Given the description of an element on the screen output the (x, y) to click on. 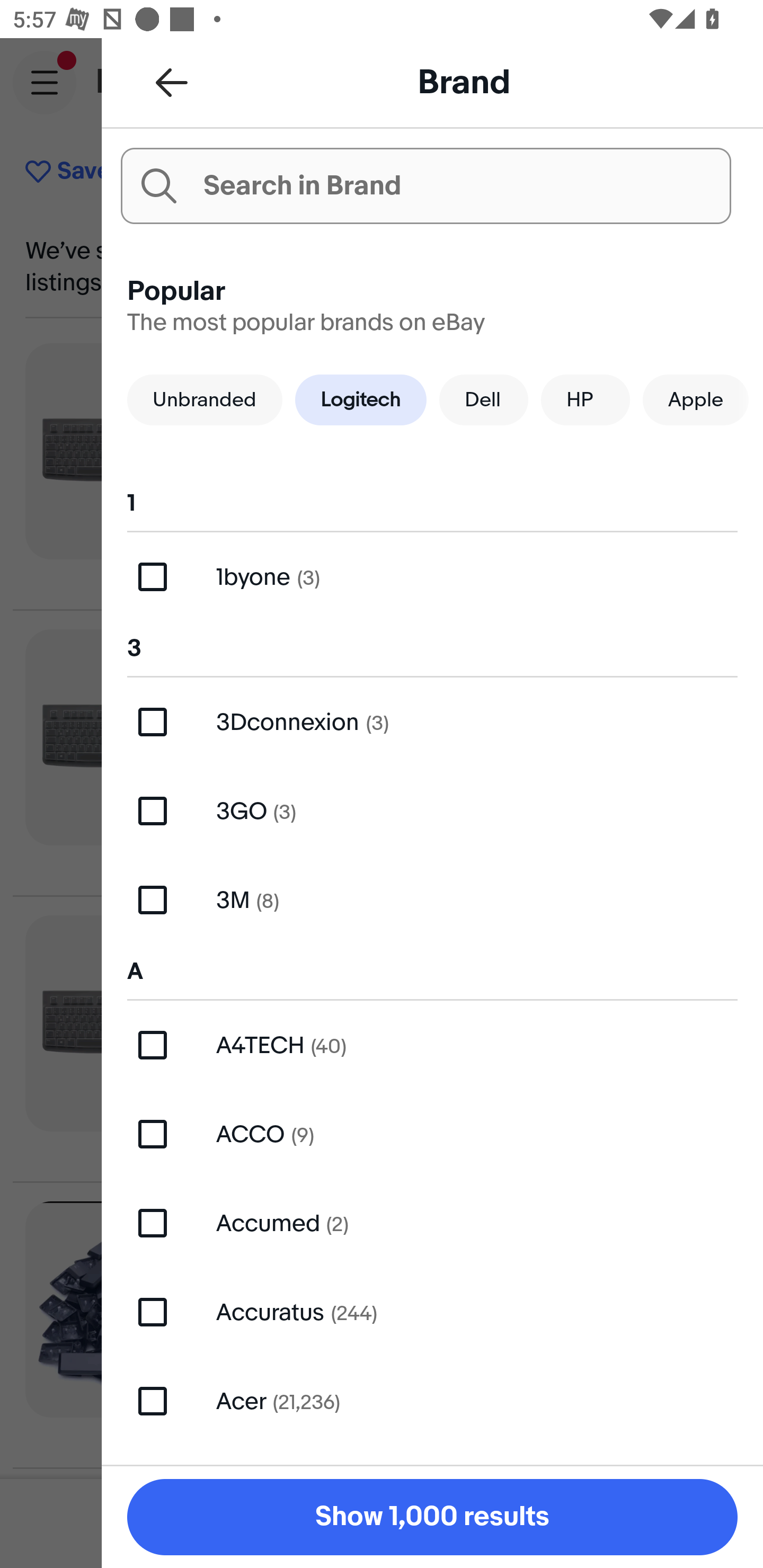
Back to all refinements (171, 81)
Search in Brand (425, 185)
Unbranded (204, 399)
Logitech (360, 399)
Dell (483, 399)
HP (585, 399)
Apple (695, 399)
1byone (3) (432, 576)
3Dconnexion (3) (432, 721)
3GO (3) (432, 811)
3M (8) (432, 899)
A4TECH (40) (432, 1044)
ACCO (9) (432, 1134)
Accumed (2) (432, 1222)
Accuratus (244) (432, 1311)
Acer (21,236) (432, 1400)
Show 1,000 results (432, 1516)
